Given the description of an element on the screen output the (x, y) to click on. 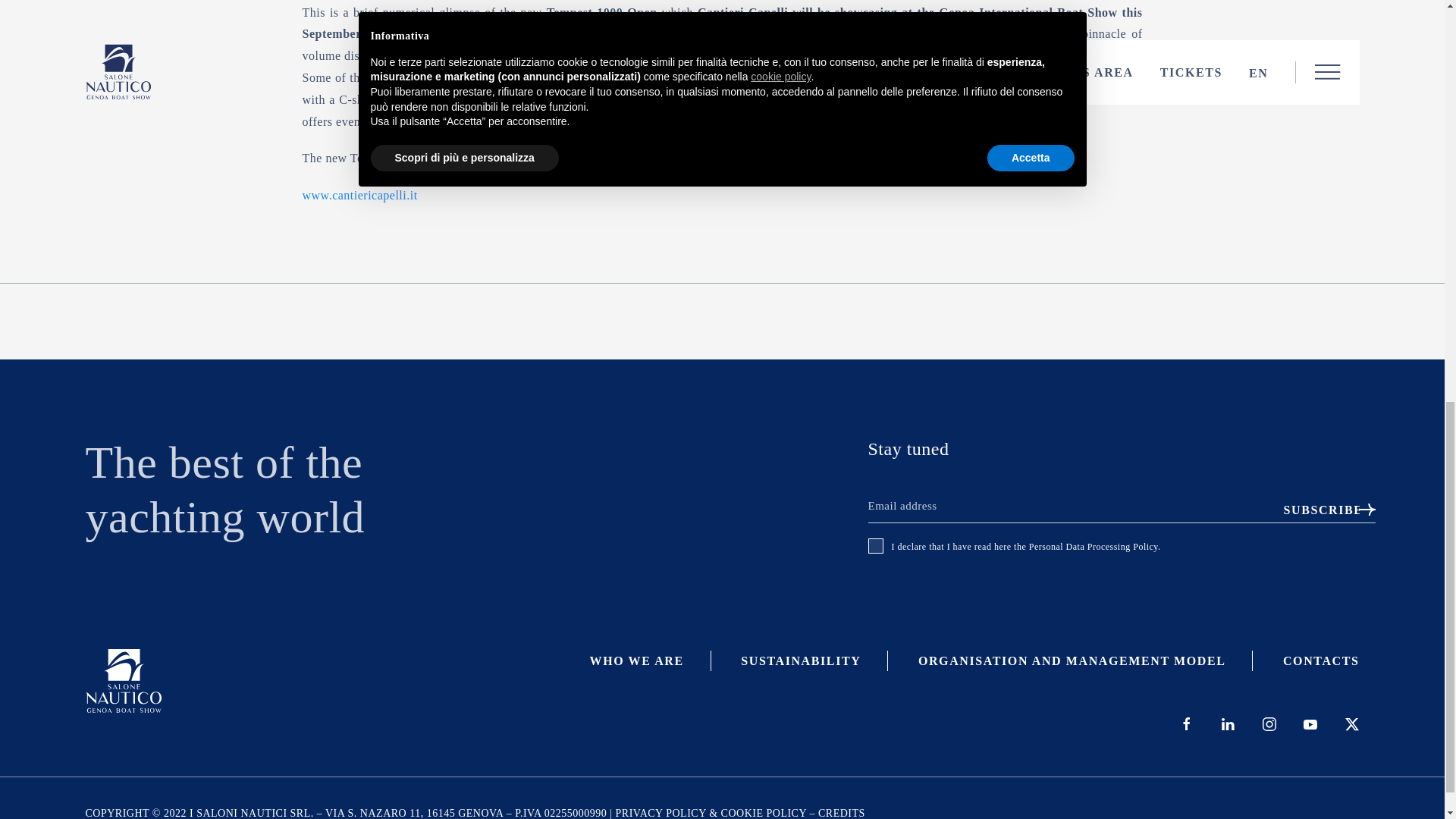
Subscribe (1317, 510)
1 (874, 545)
